Given the description of an element on the screen output the (x, y) to click on. 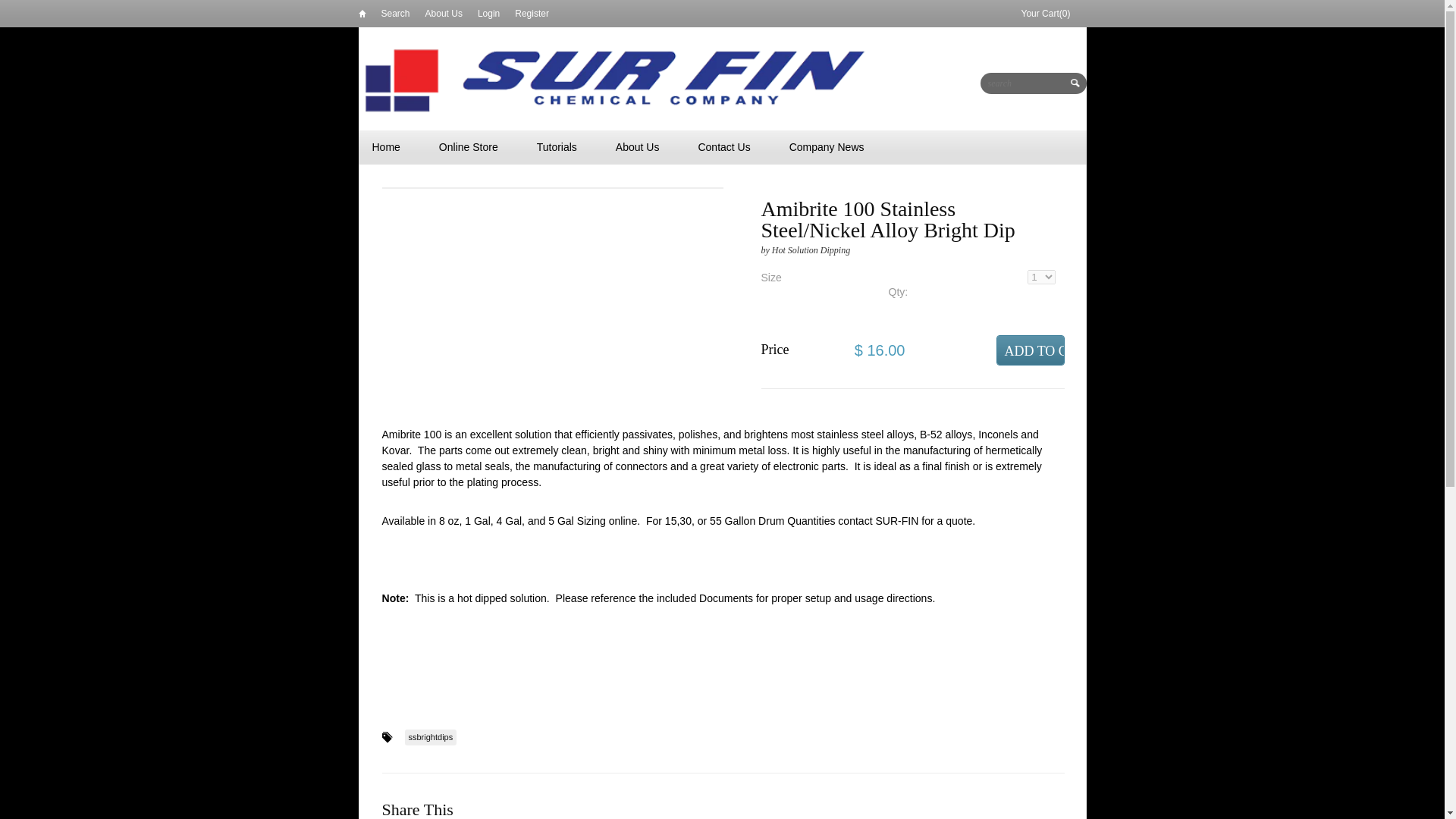
ssbrightdips (430, 737)
Add to Cart (1029, 349)
Contact Us (723, 147)
Search (394, 13)
Tutorials (557, 147)
Company News (826, 147)
About Us (637, 147)
Login (488, 13)
Register (531, 13)
About Us (444, 13)
